Given the description of an element on the screen output the (x, y) to click on. 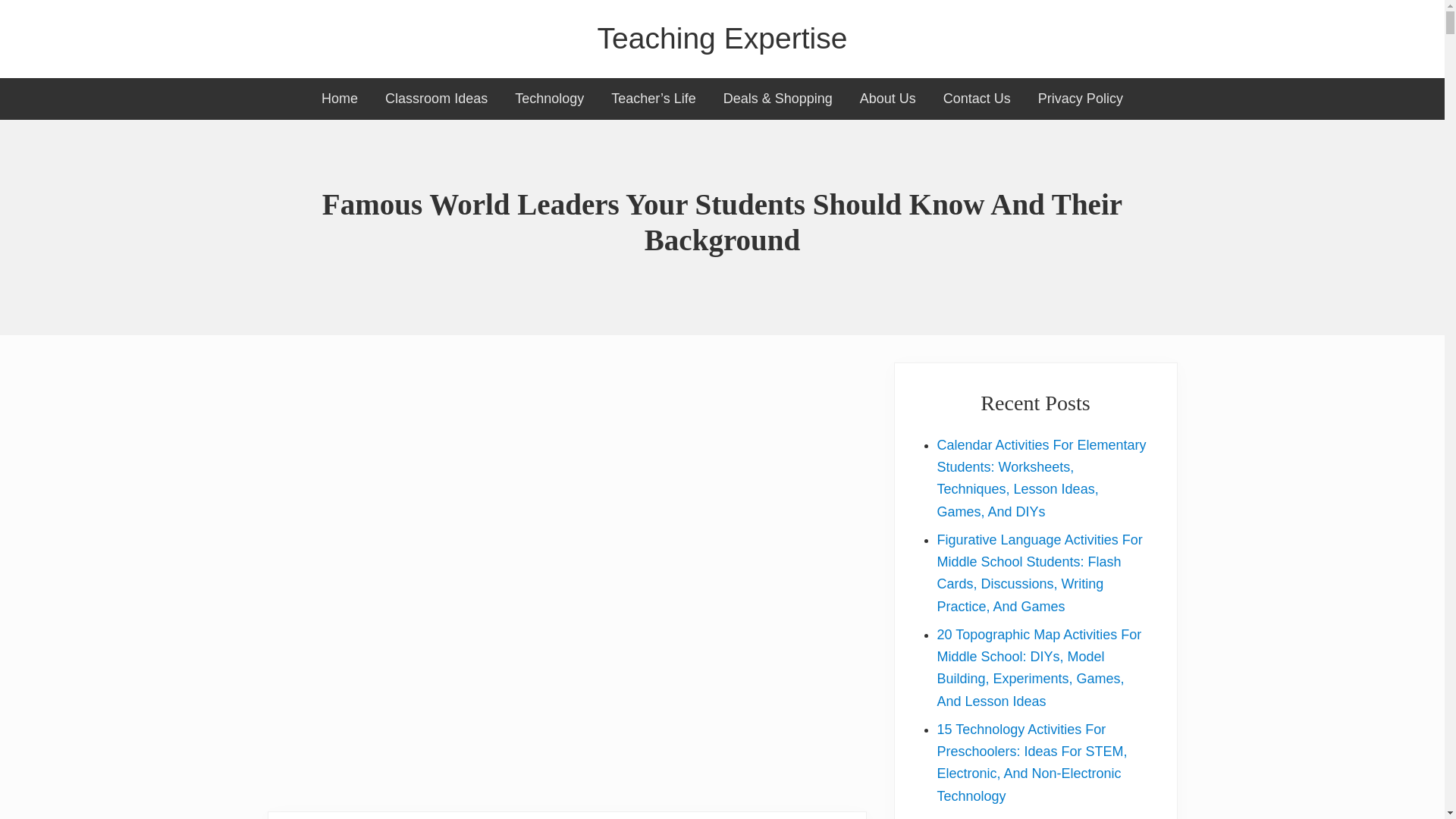
Contact Us (977, 98)
Home (339, 98)
Teaching Expertise (721, 38)
About Us (887, 98)
Classroom Ideas (435, 98)
Technology (548, 98)
Privacy Policy (1081, 98)
